Given the description of an element on the screen output the (x, y) to click on. 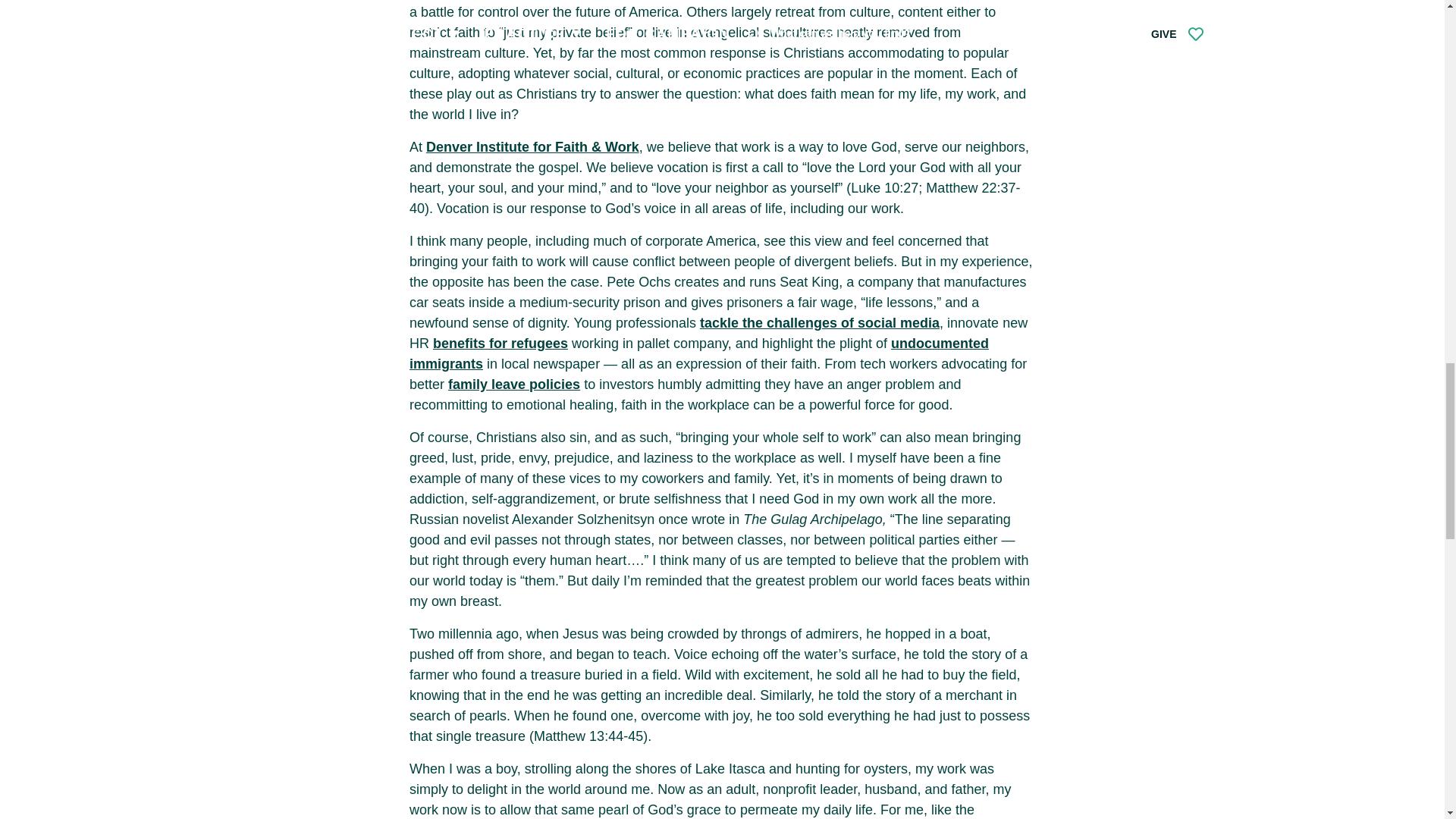
benefits for refugees (499, 343)
tackle the challenges of social media (819, 322)
undocumented immigrants (698, 353)
family leave policies (513, 384)
